Given the description of an element on the screen output the (x, y) to click on. 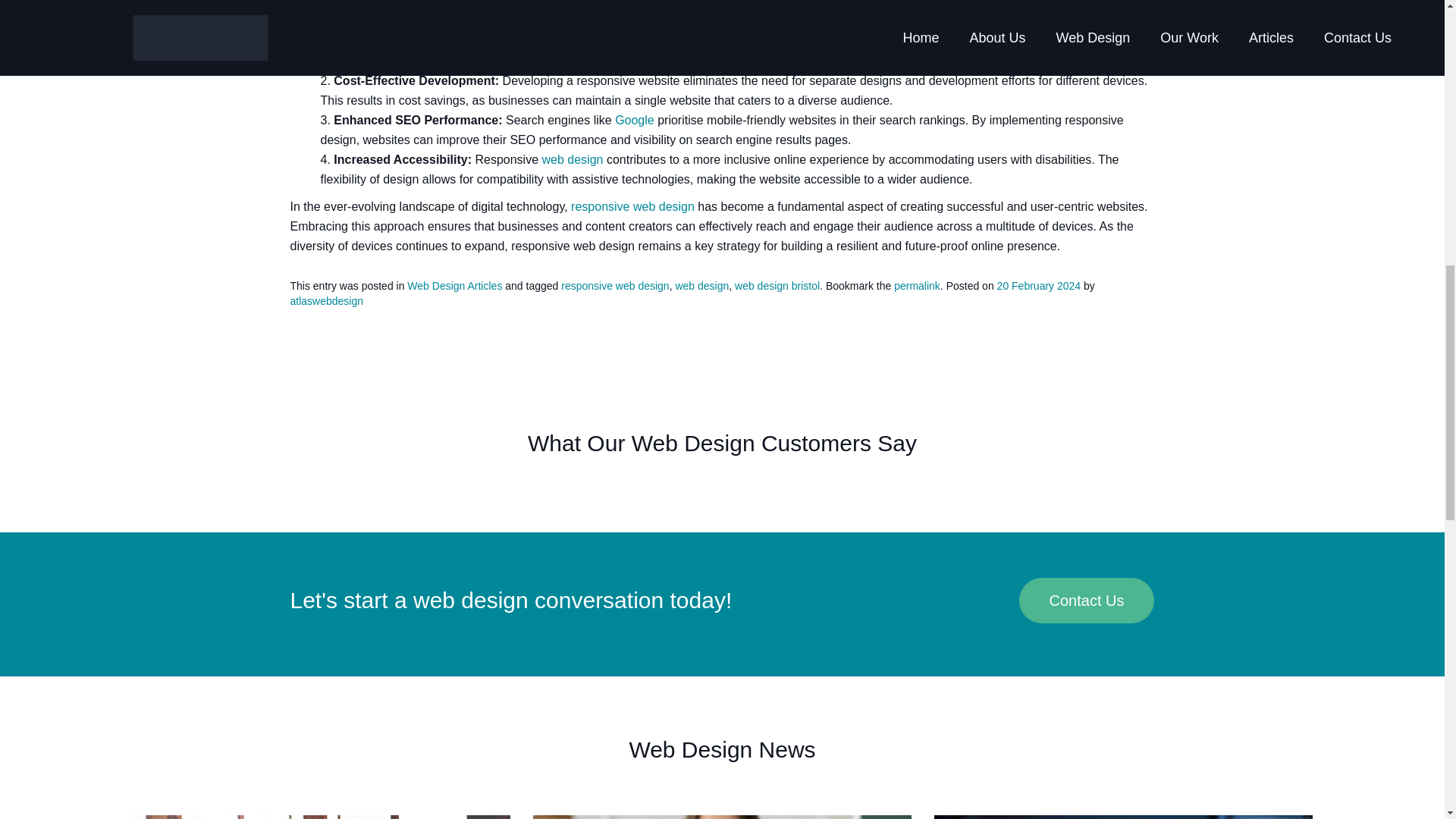
responsive web design (614, 285)
20 February 2024 (1039, 285)
web design (702, 285)
permalink (916, 285)
View all posts by atlaswebdesign (325, 300)
Web Design Articles (454, 285)
web design (572, 159)
web design bristol (777, 285)
Contact Us (1086, 600)
11:05 am (1039, 285)
